Given the description of an element on the screen output the (x, y) to click on. 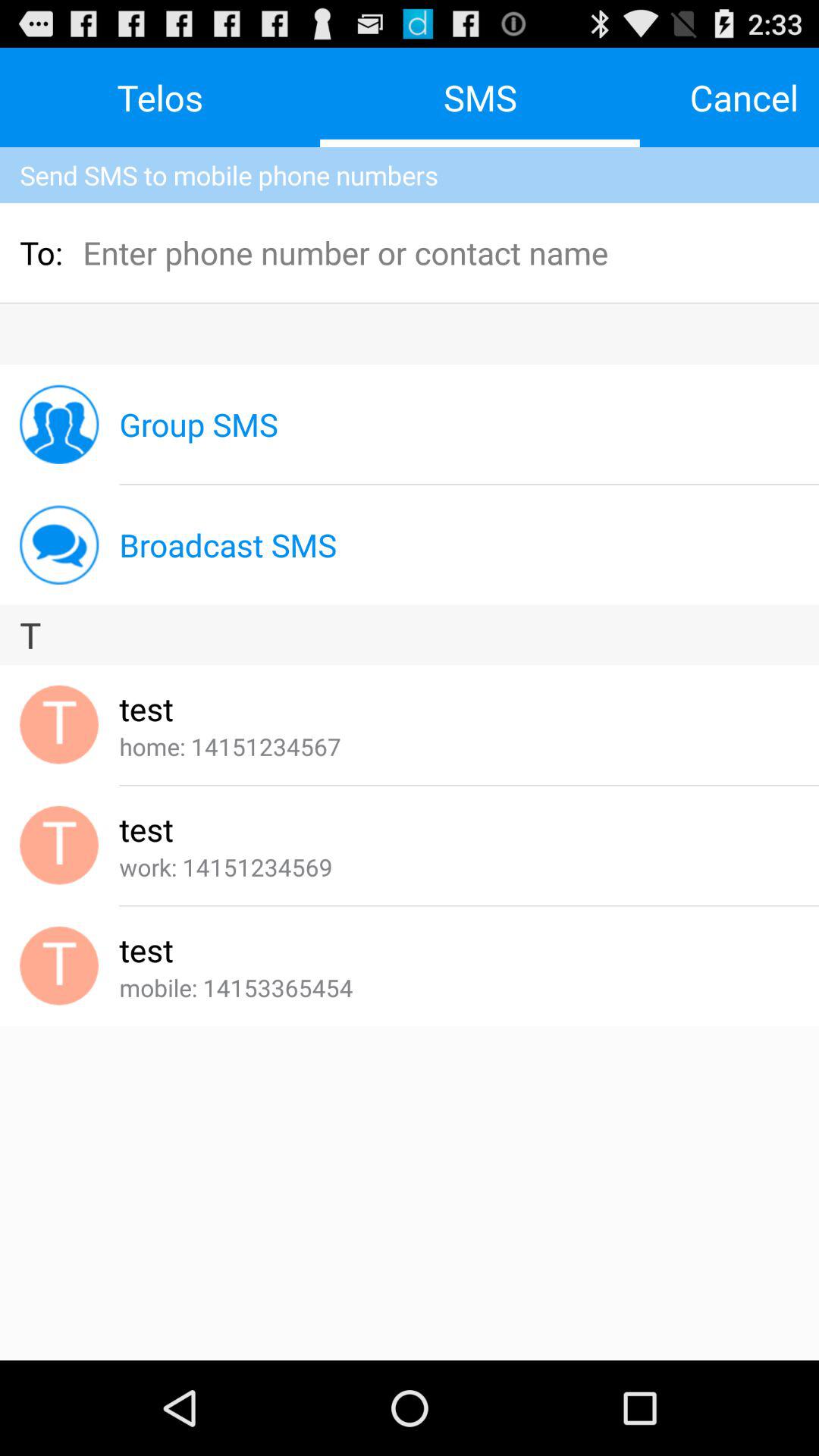
select the cancel at the top right corner (743, 97)
